Given the description of an element on the screen output the (x, y) to click on. 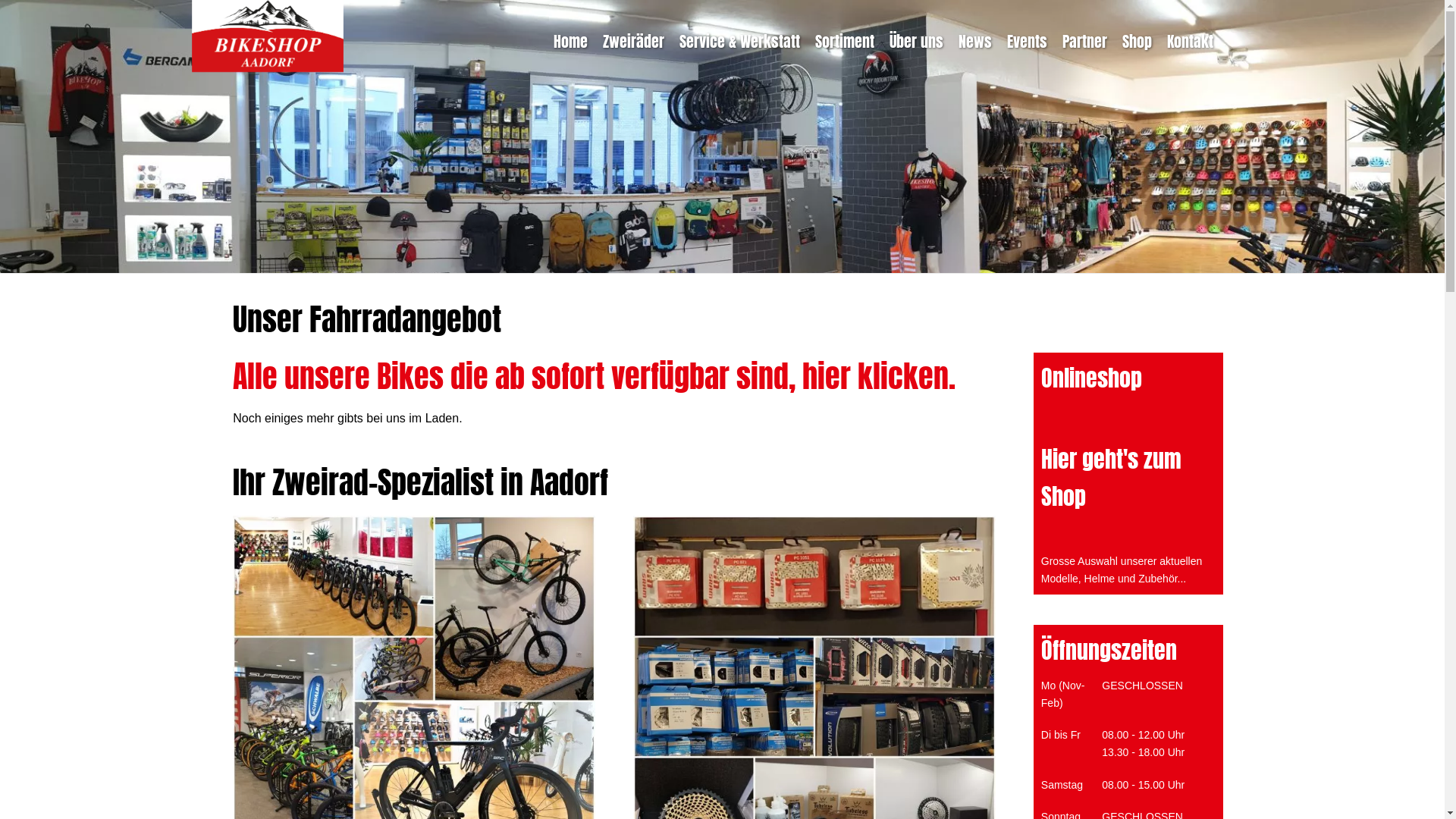
Home Element type: text (570, 42)
Kontakt Element type: text (1190, 42)
Bikeshop Aadorf - Ihr Zweirad Spezialist Element type: hover (267, 67)
News Element type: text (974, 42)
Service & Werkstatt Element type: text (739, 42)
Events Element type: text (1027, 42)
Partner Element type: text (1084, 42)
Hier geht's zum Shop Element type: text (1111, 477)
Sortiment Element type: text (844, 42)
Bikeshop Aadorf - Ihr Zweirad Spezialist Element type: hover (267, 36)
Shop Element type: text (1136, 42)
